Given the description of an element on the screen output the (x, y) to click on. 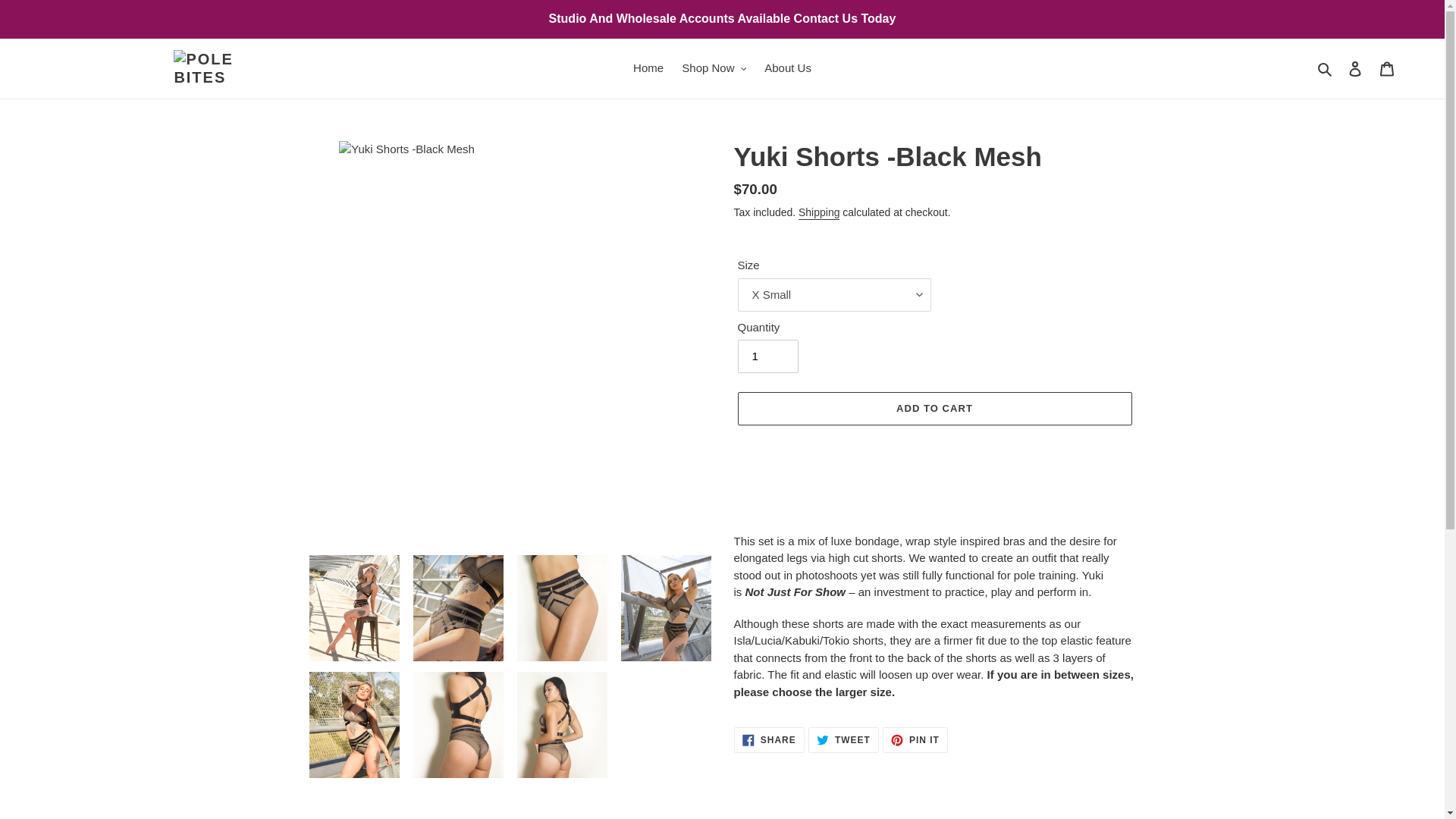
Shop Now (714, 68)
Search (1326, 67)
Cart (1387, 68)
About Us (787, 68)
Studio And Wholesale Accounts Available Contact Us Today (721, 18)
Log in (1355, 68)
Home (648, 68)
1 (766, 356)
